Given the description of an element on the screen output the (x, y) to click on. 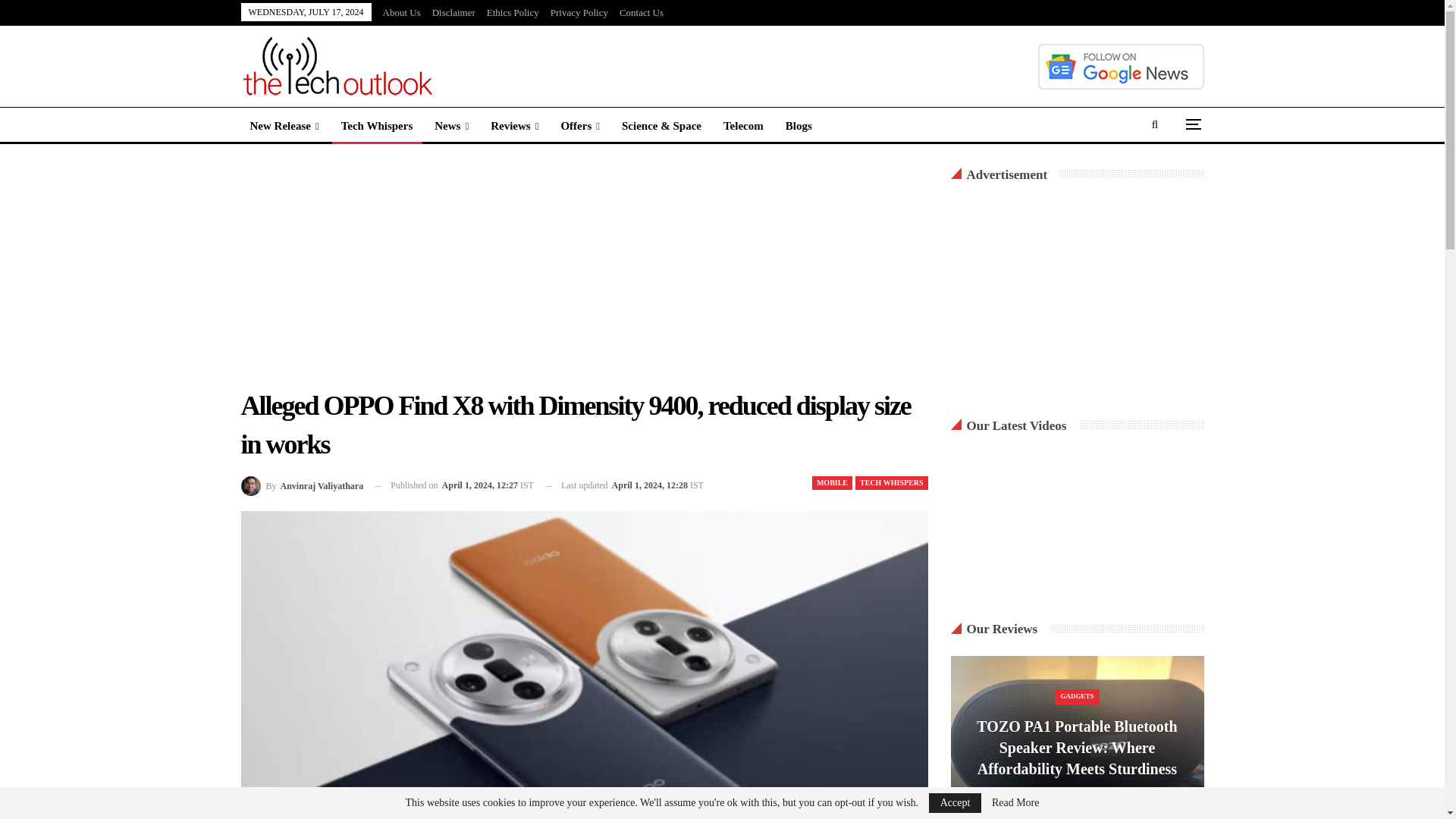
Browse Author Articles (302, 485)
